Given the description of an element on the screen output the (x, y) to click on. 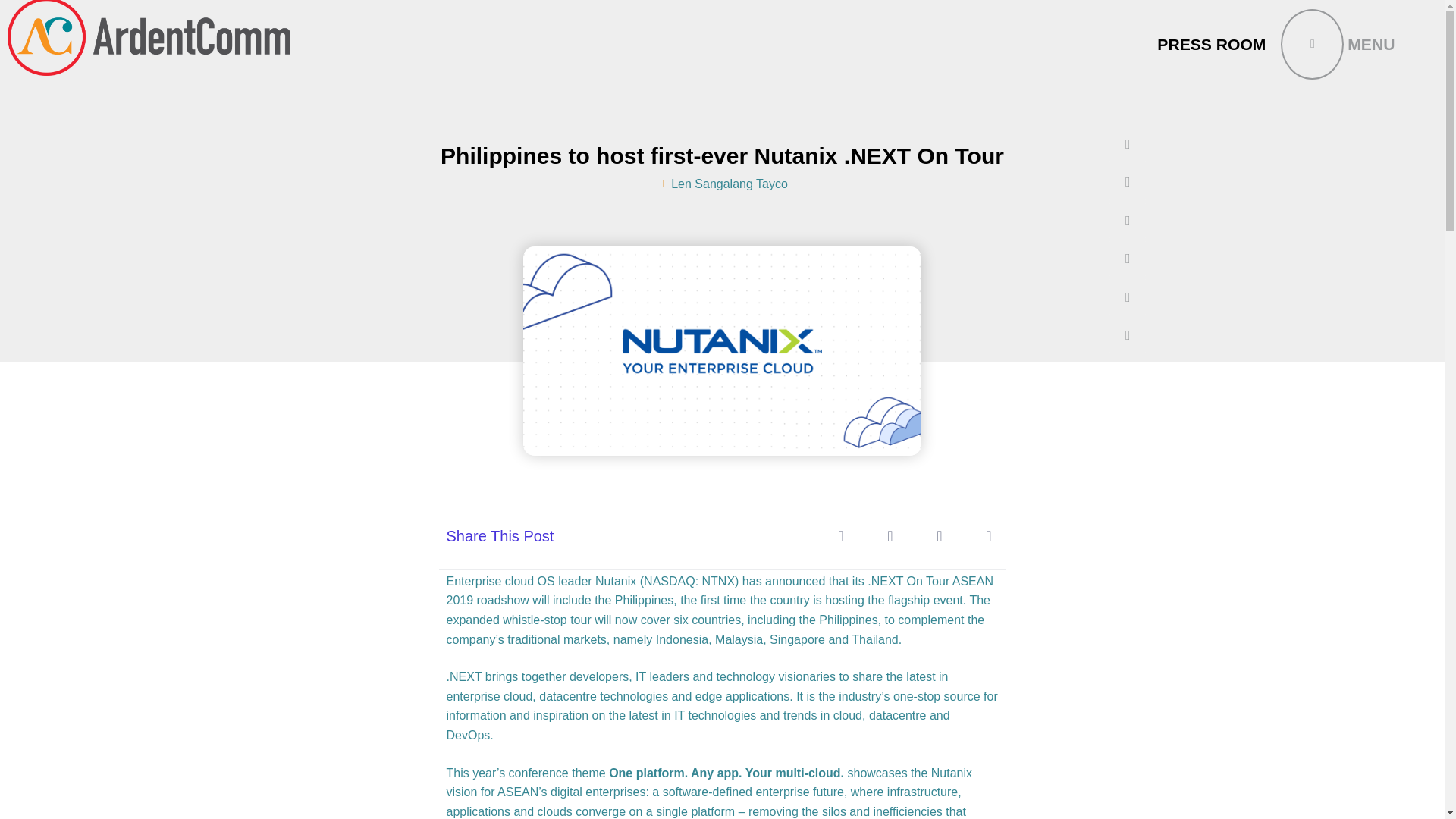
MENU (1337, 44)
